Given the description of an element on the screen output the (x, y) to click on. 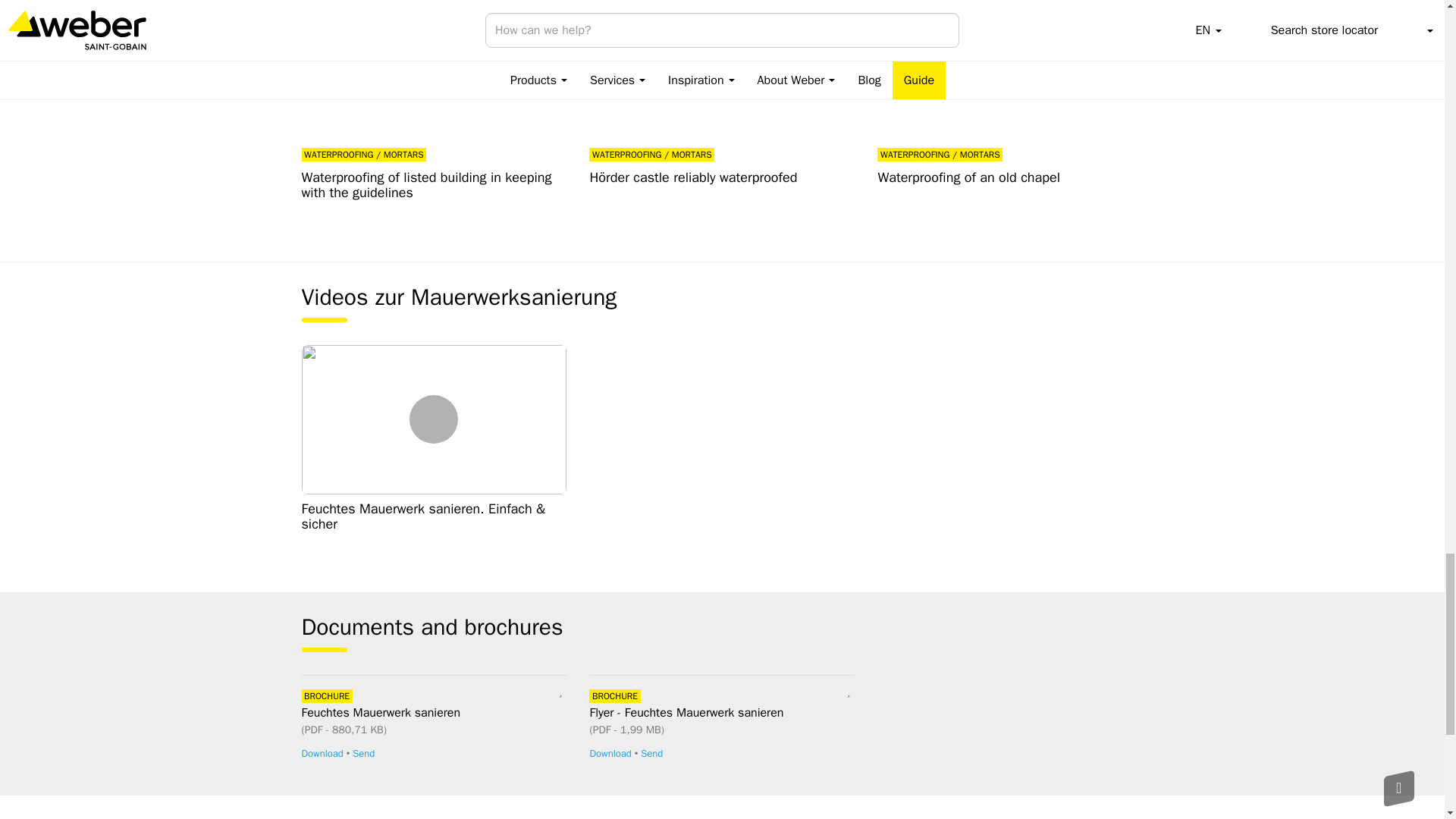
Meissen (434, 69)
